Given the description of an element on the screen output the (x, y) to click on. 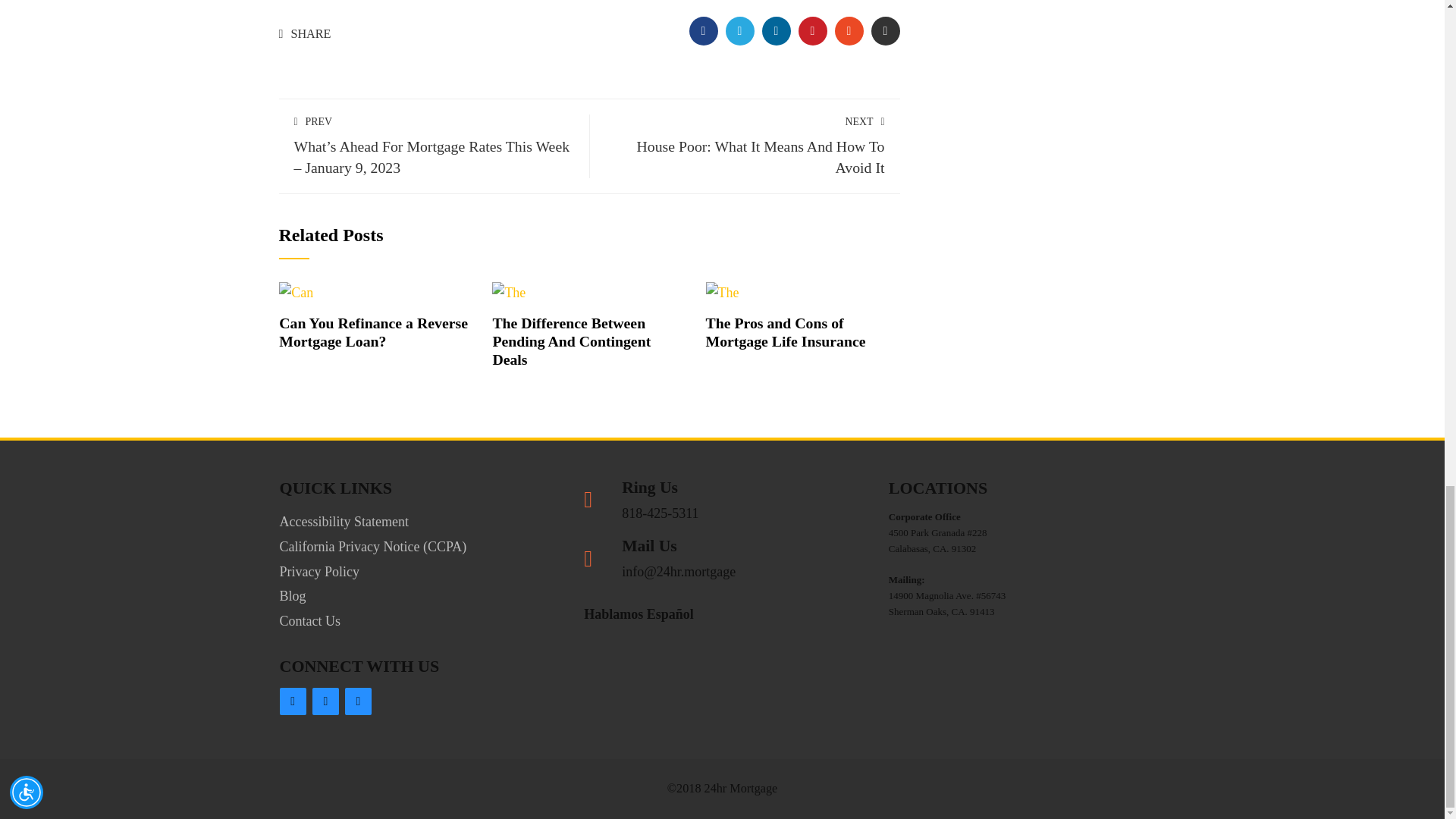
Can You Refinance a Reverse Mortgage Loan? (373, 331)
The Difference Between Pending And Contingent Deals (508, 290)
Can You Refinance a Reverse Mortgage Loan? (296, 290)
The Pros and Cons of Mortgage Life Insurance (786, 331)
The Difference Between Pending And Contingent Deals (571, 340)
The Pros and Cons of Mortgage Life Insurance (722, 290)
